Given the description of an element on the screen output the (x, y) to click on. 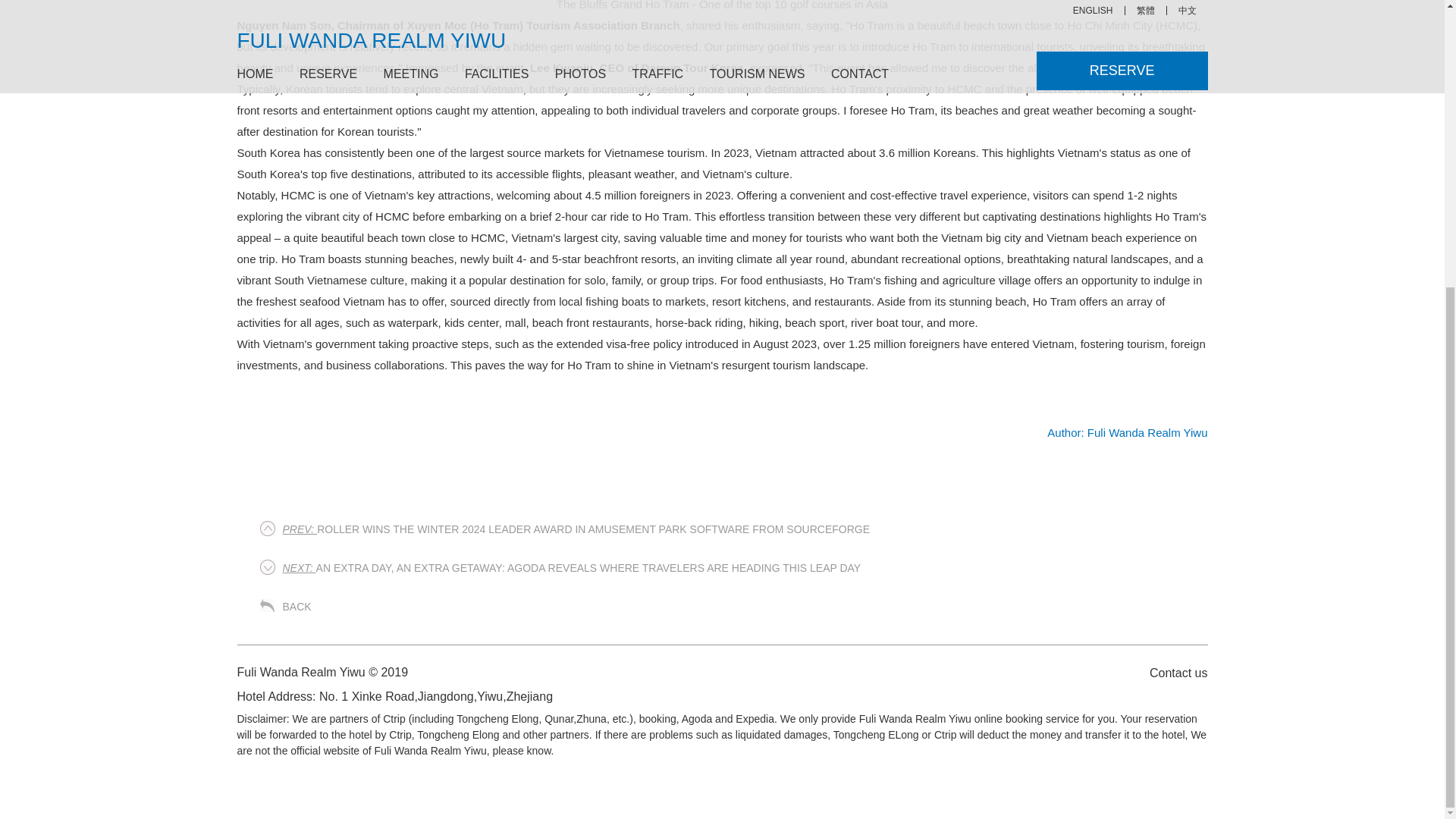
Fuli Wanda Realm Yiwu (1126, 431)
Author: Fuli Wanda Realm Yiwu (1126, 431)
BACK (296, 606)
Contact us (1170, 671)
